Given the description of an element on the screen output the (x, y) to click on. 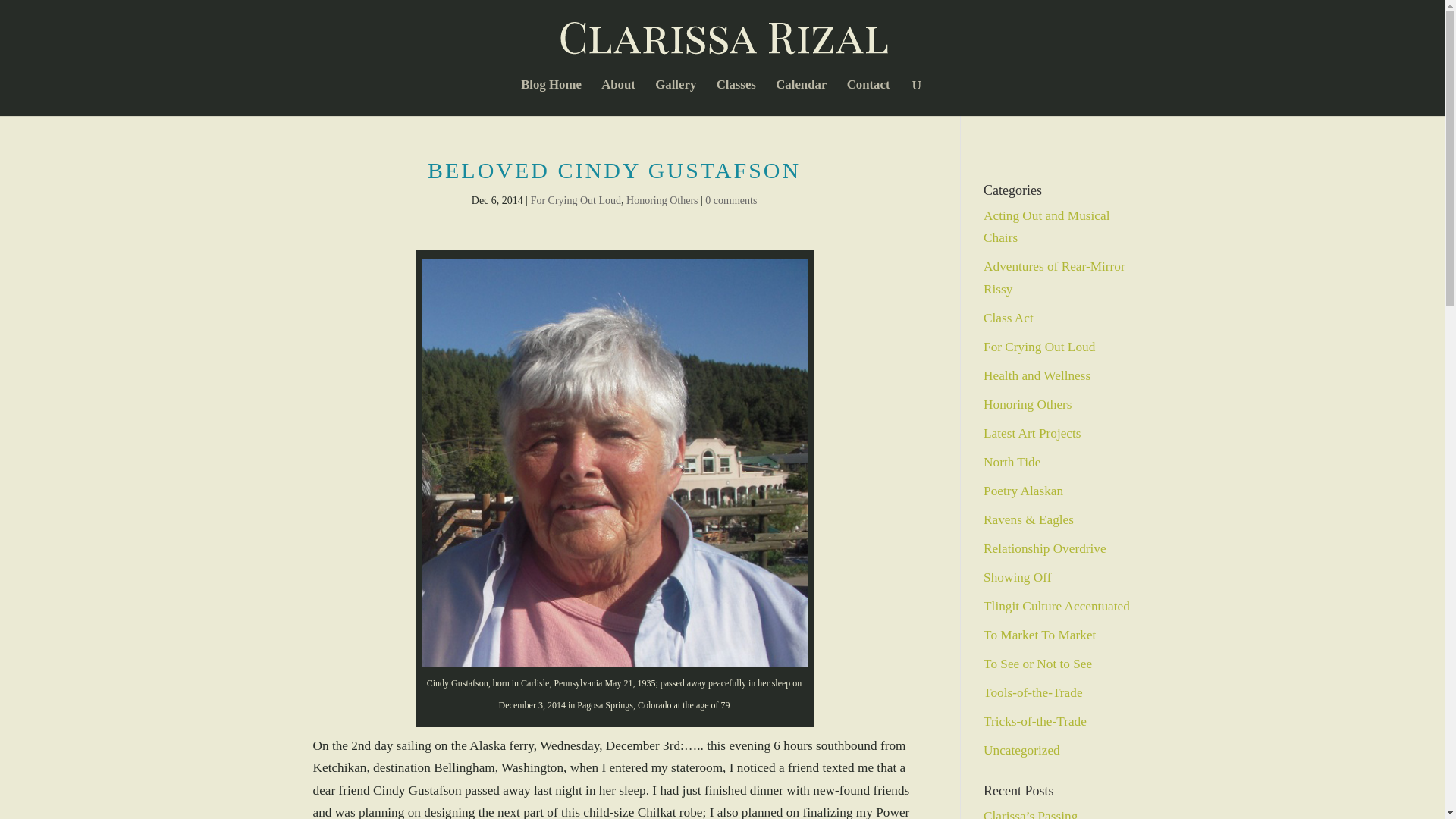
Tools-of-the-Trade (1033, 692)
Adventures of Rear-Mirror Rissy (1054, 277)
For Crying Out Loud (576, 200)
About (617, 97)
BLOG Homepage (550, 97)
For Crying Out Loud (1039, 346)
Honoring Others (662, 200)
Uncategorized (1021, 749)
Poetry Alaskan (1023, 490)
To See or Not to See (1038, 663)
